Given the description of an element on the screen output the (x, y) to click on. 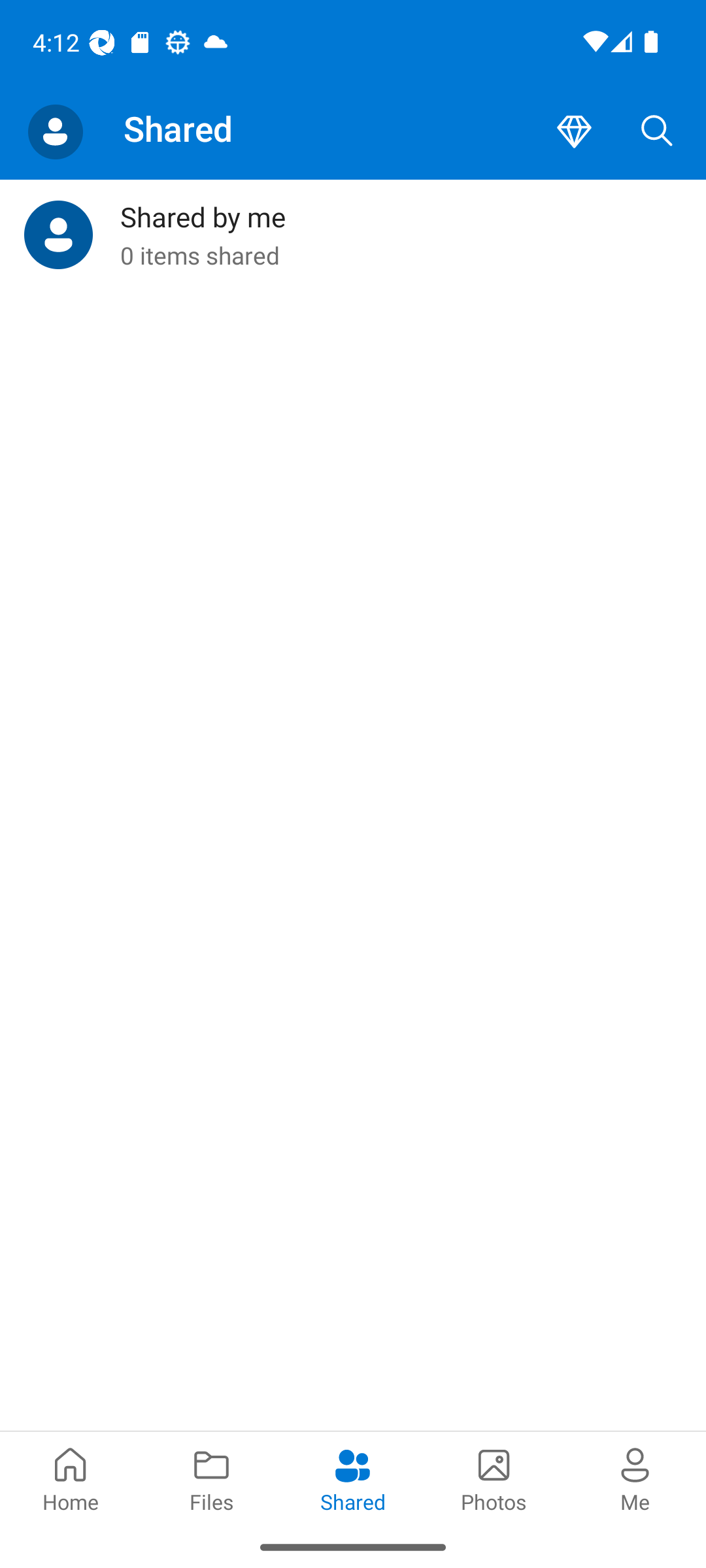
Account switcher (55, 131)
Premium button (574, 131)
Search button (656, 131)
0 Shared by me 0 items shared (353, 235)
Home pivot Home (70, 1478)
Files pivot Files (211, 1478)
Photos pivot Photos (493, 1478)
Me pivot Me (635, 1478)
